Given the description of an element on the screen output the (x, y) to click on. 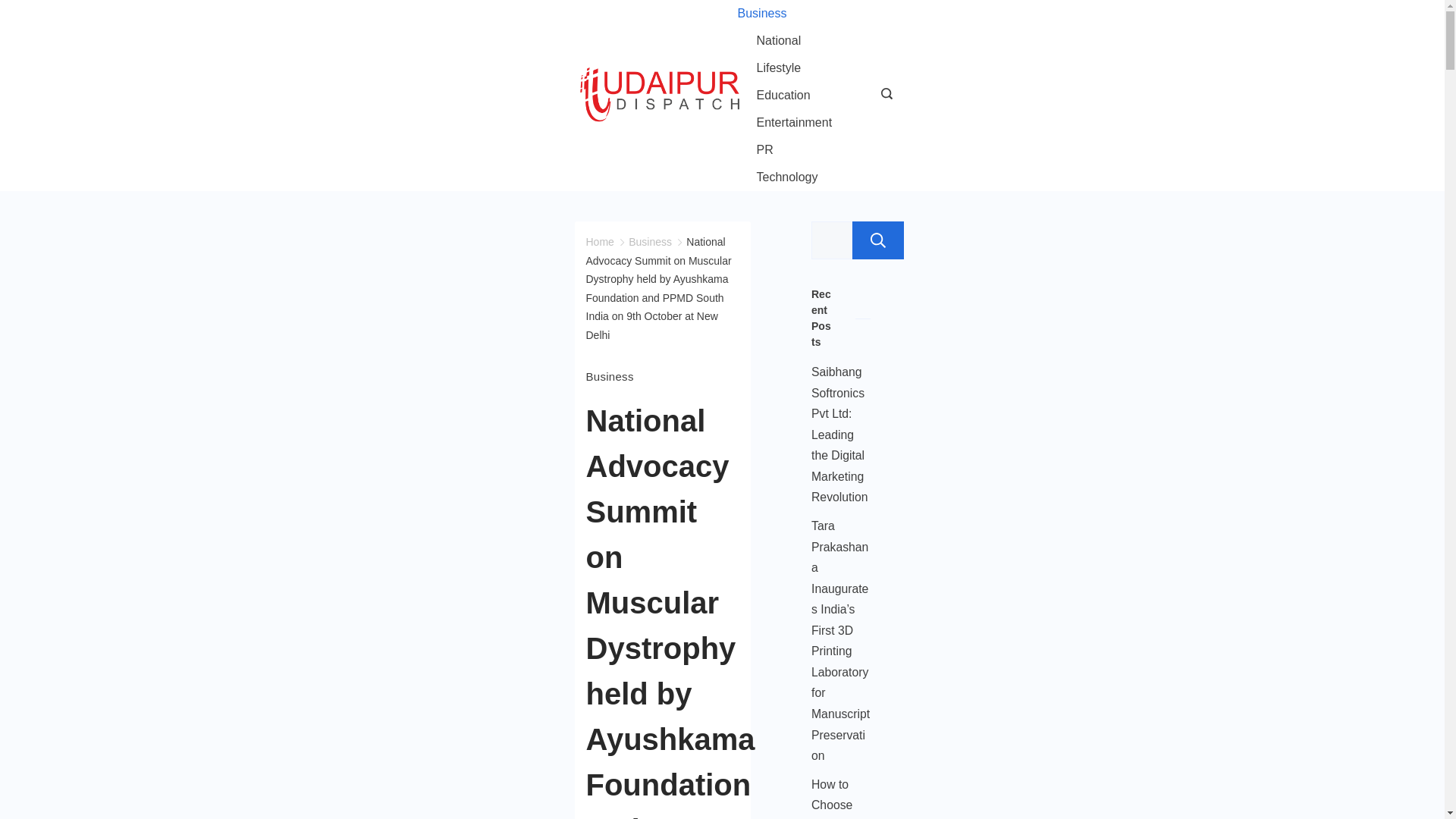
Education (782, 94)
PR (764, 149)
Business (649, 241)
Business (770, 13)
Business (609, 376)
Home (598, 241)
Entertainment (793, 122)
Lifestyle (777, 67)
Technology (776, 176)
National (777, 40)
